Given the description of an element on the screen output the (x, y) to click on. 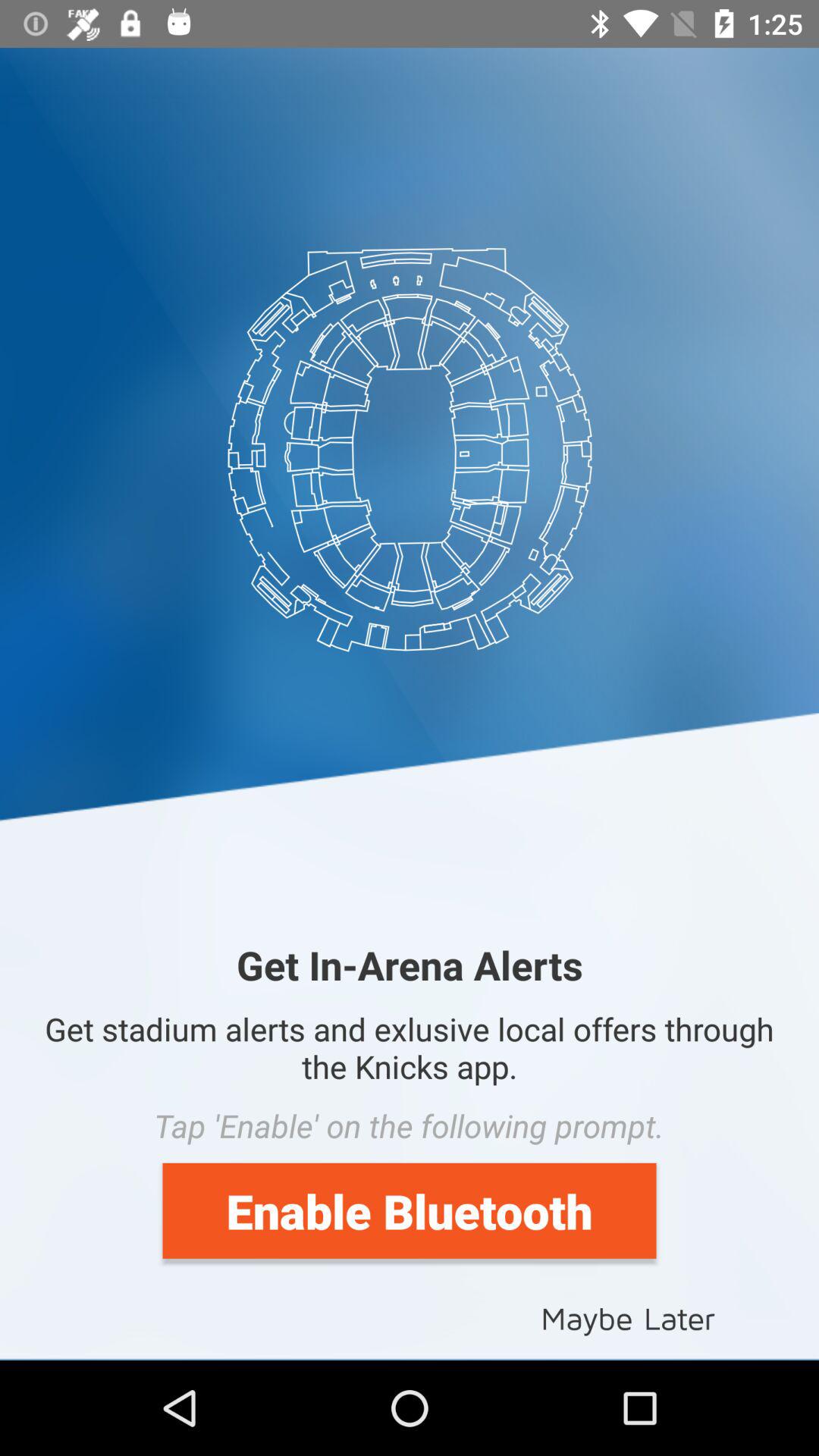
jump until enable bluetooth icon (409, 1210)
